Given the description of an element on the screen output the (x, y) to click on. 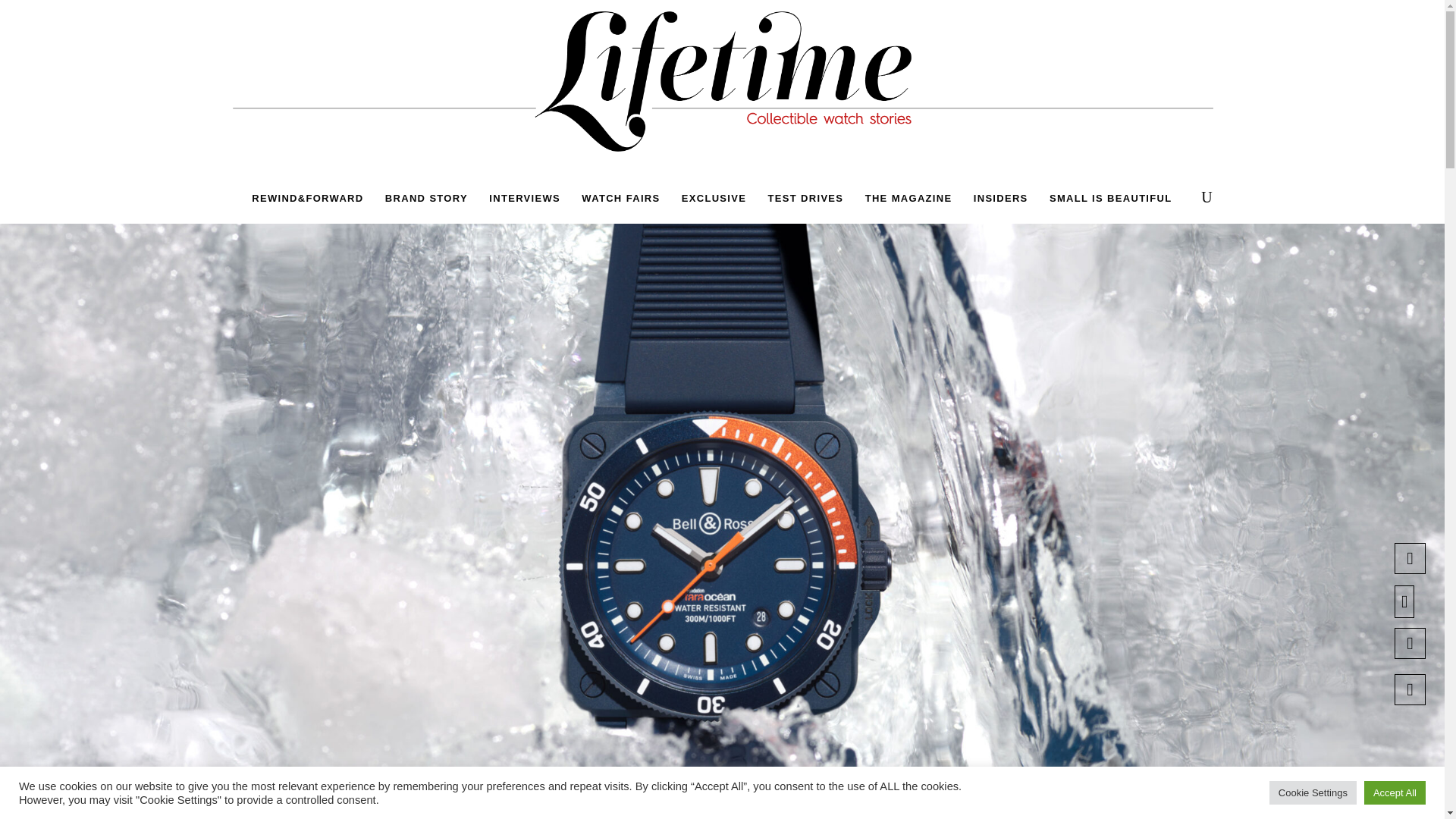
THE MAGAZINE (908, 197)
TEST DRIVES (805, 197)
SMALL IS BEAUTIFUL (1110, 197)
INSIDERS (1000, 197)
INTERVIEWS (524, 197)
EXCLUSIVE (713, 197)
BRAND STORY (426, 197)
WATCH FAIRS (620, 197)
